Given the description of an element on the screen output the (x, y) to click on. 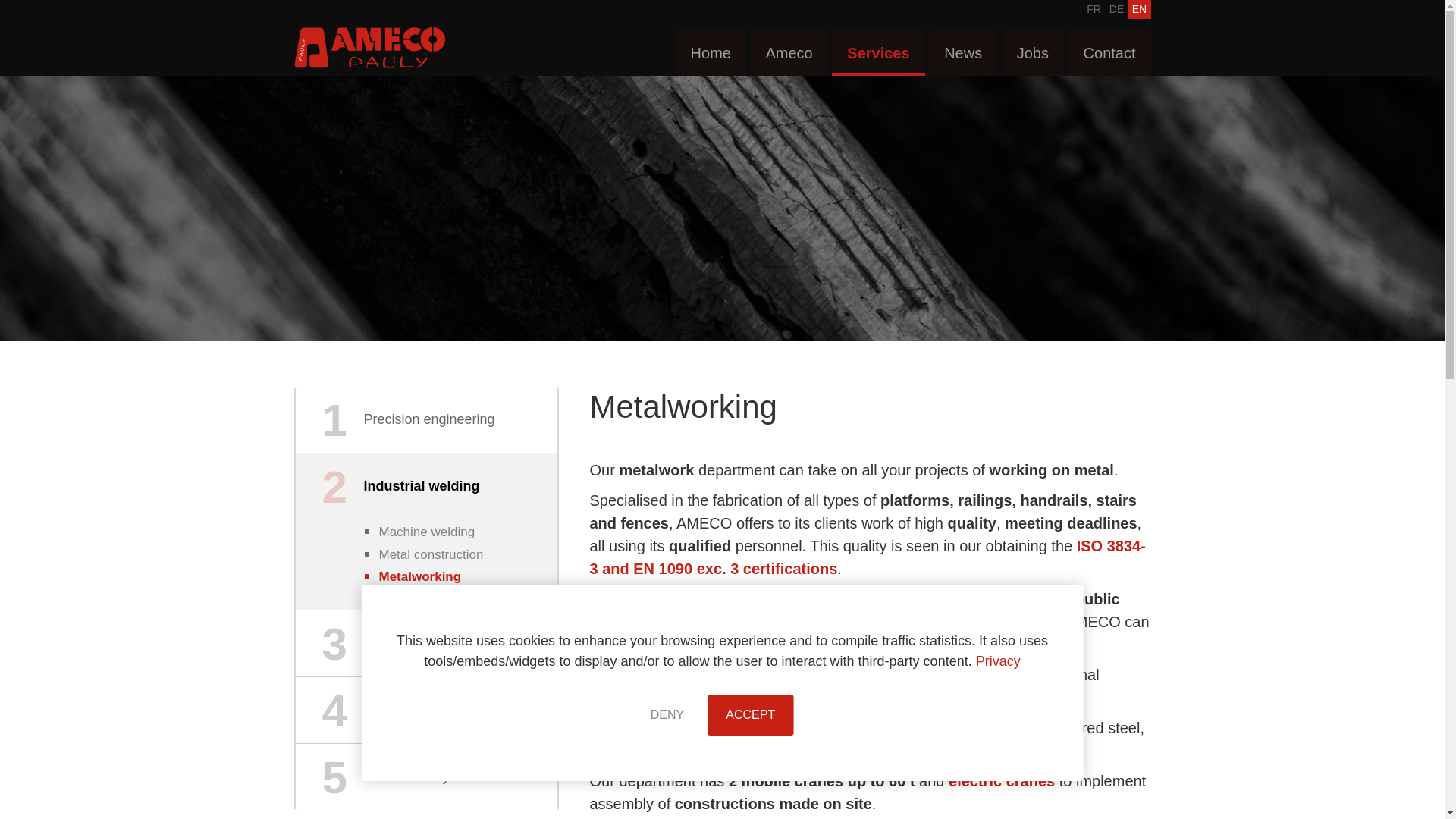
Ameco (789, 53)
Precision engineering (426, 419)
ACCEPT (749, 714)
Jobs (1032, 53)
ISO 3834-3 and EN 1090 exc. 3 certifications (866, 557)
News (962, 53)
English (1139, 9)
DENY (667, 714)
Services (877, 53)
Ameco (369, 47)
Industrial welding (426, 486)
Machine welding (464, 532)
own machine park (745, 674)
EN (1139, 9)
Home (710, 53)
